Given the description of an element on the screen output the (x, y) to click on. 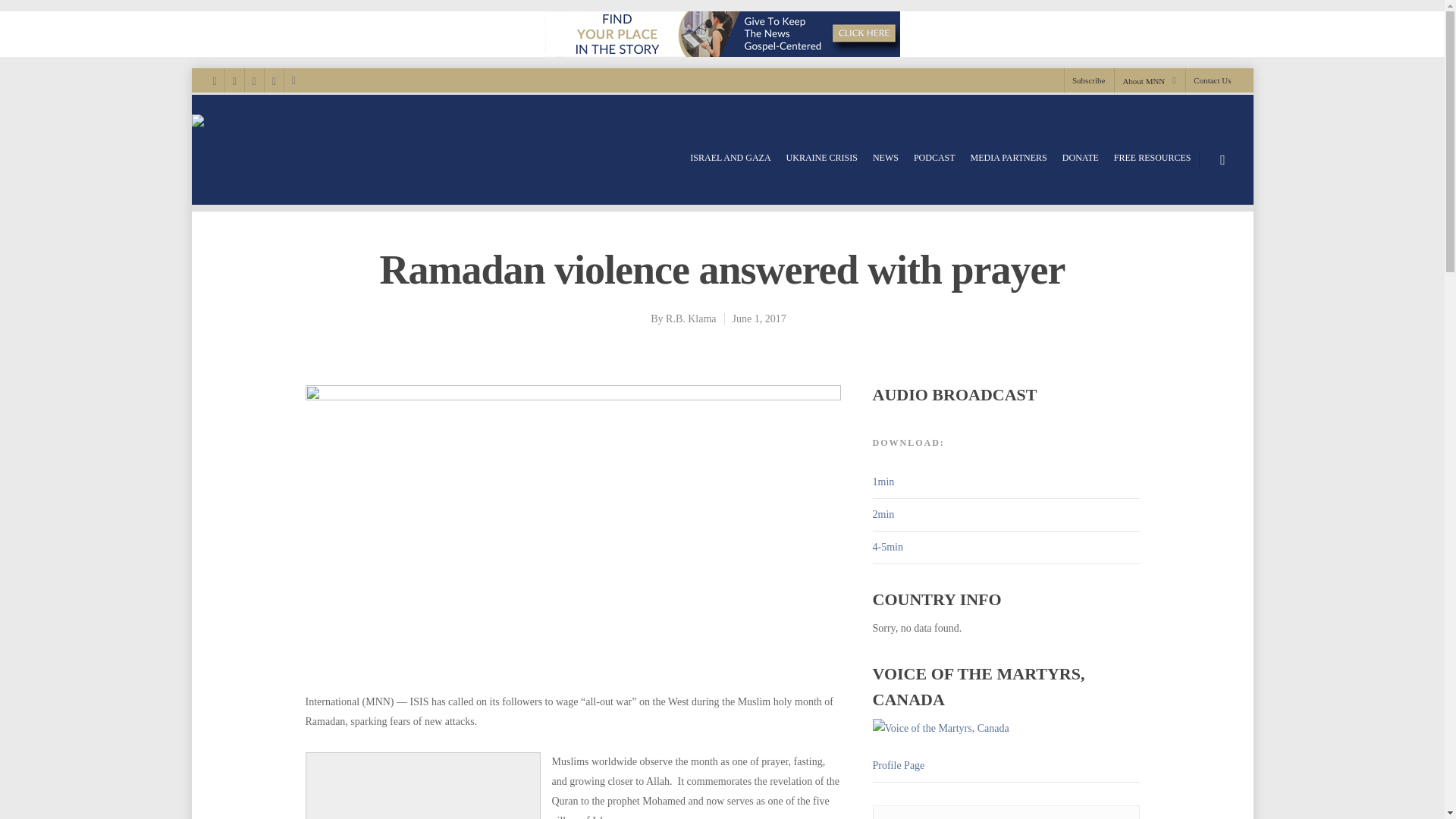
Subscribe (1088, 80)
Posts by R.B. Klama (690, 318)
R.B. Klama (690, 318)
ISRAEL AND GAZA (730, 157)
About MNN (1148, 80)
Contact Us (1207, 80)
